Given the description of an element on the screen output the (x, y) to click on. 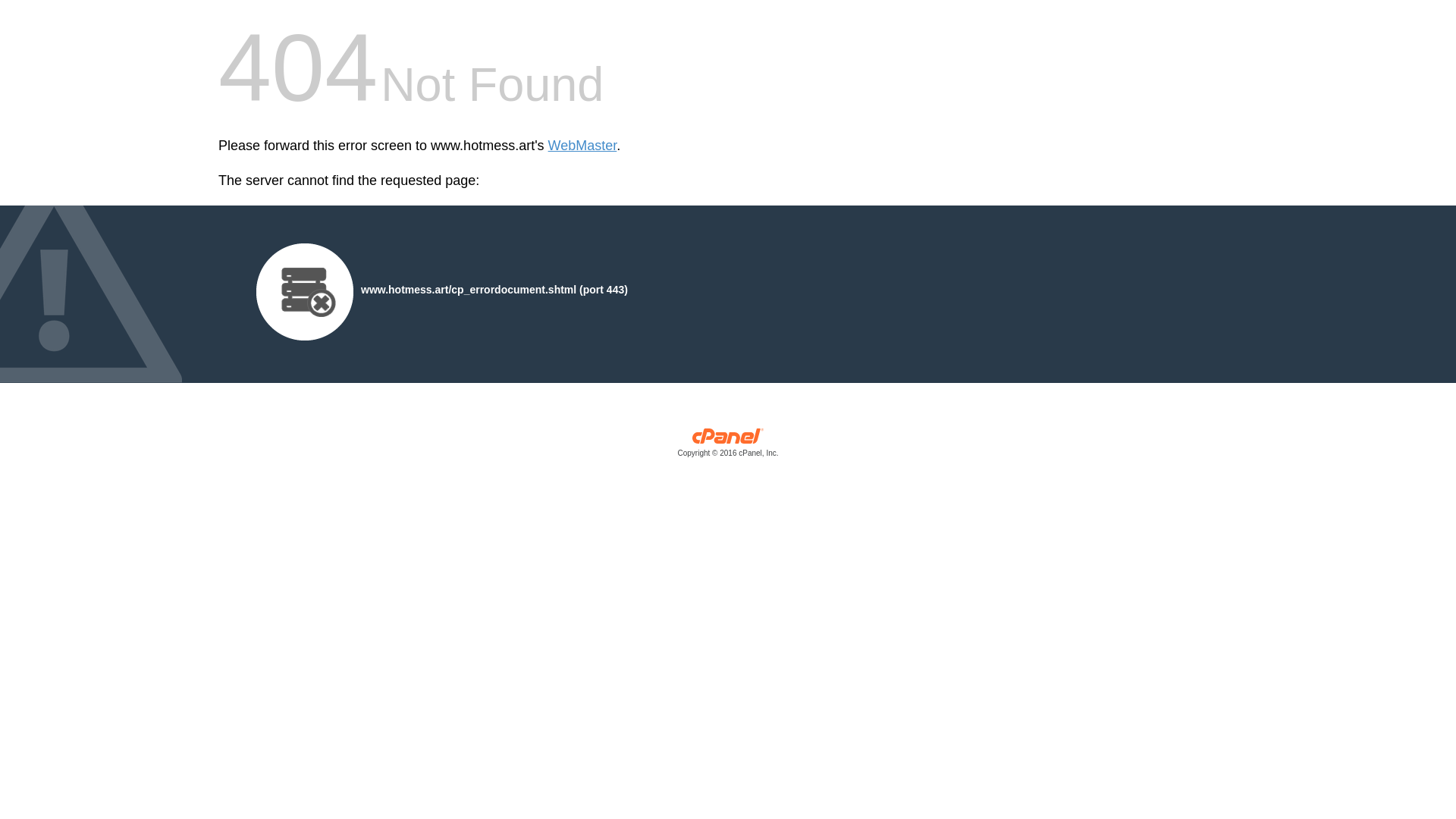
cPanel, Inc. (727, 446)
WebMaster (582, 145)
